Given the description of an element on the screen output the (x, y) to click on. 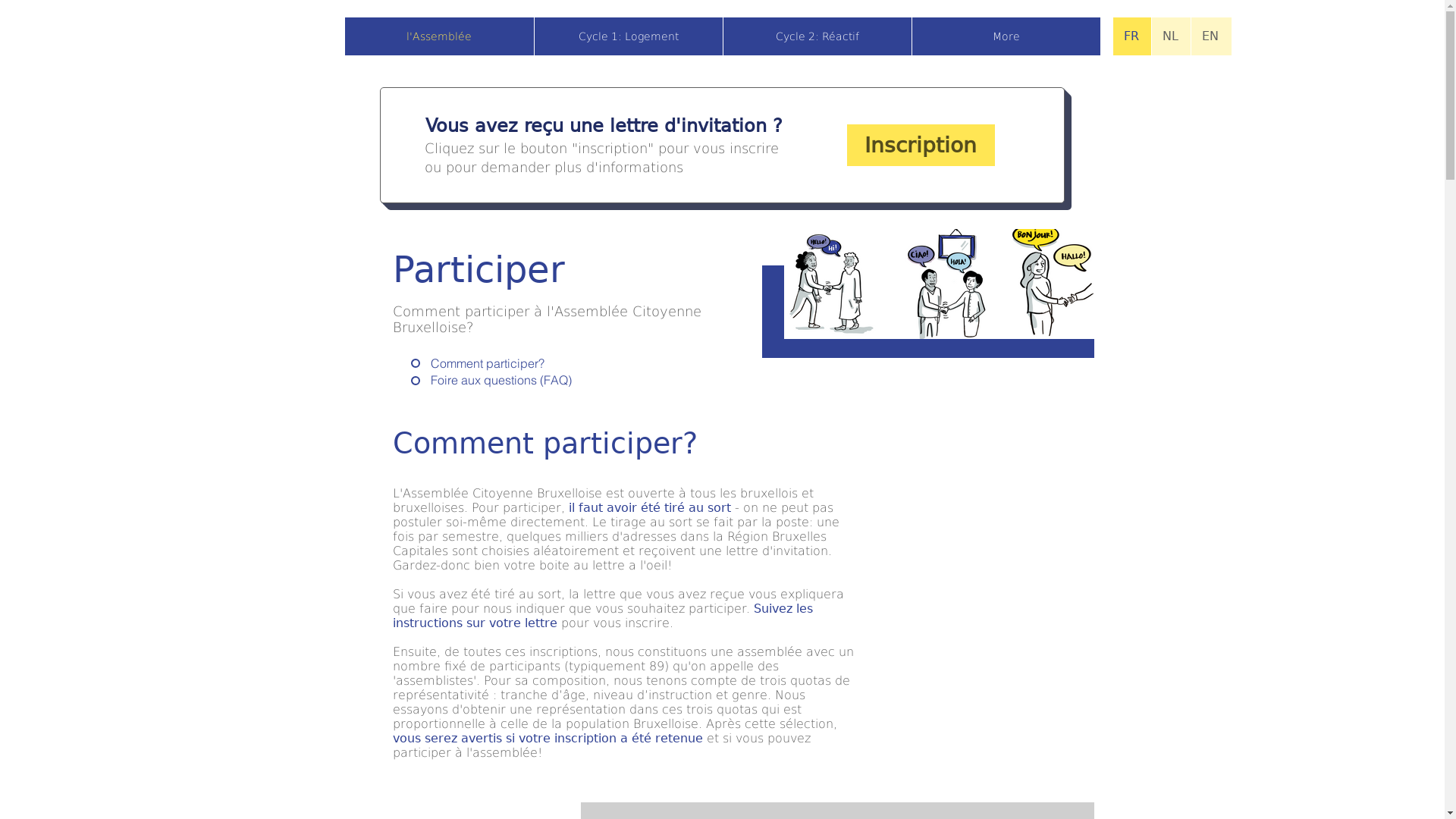
FR Element type: text (1132, 36)
NL Element type: text (1170, 36)
Foire aux questions (FAQ) Element type: text (454, 379)
Comment participer? Element type: text (454, 362)
EN Element type: text (1210, 36)
Inscription Element type: text (920, 145)
Cycle 1: Logement Element type: text (627, 36)
